Given the description of an element on the screen output the (x, y) to click on. 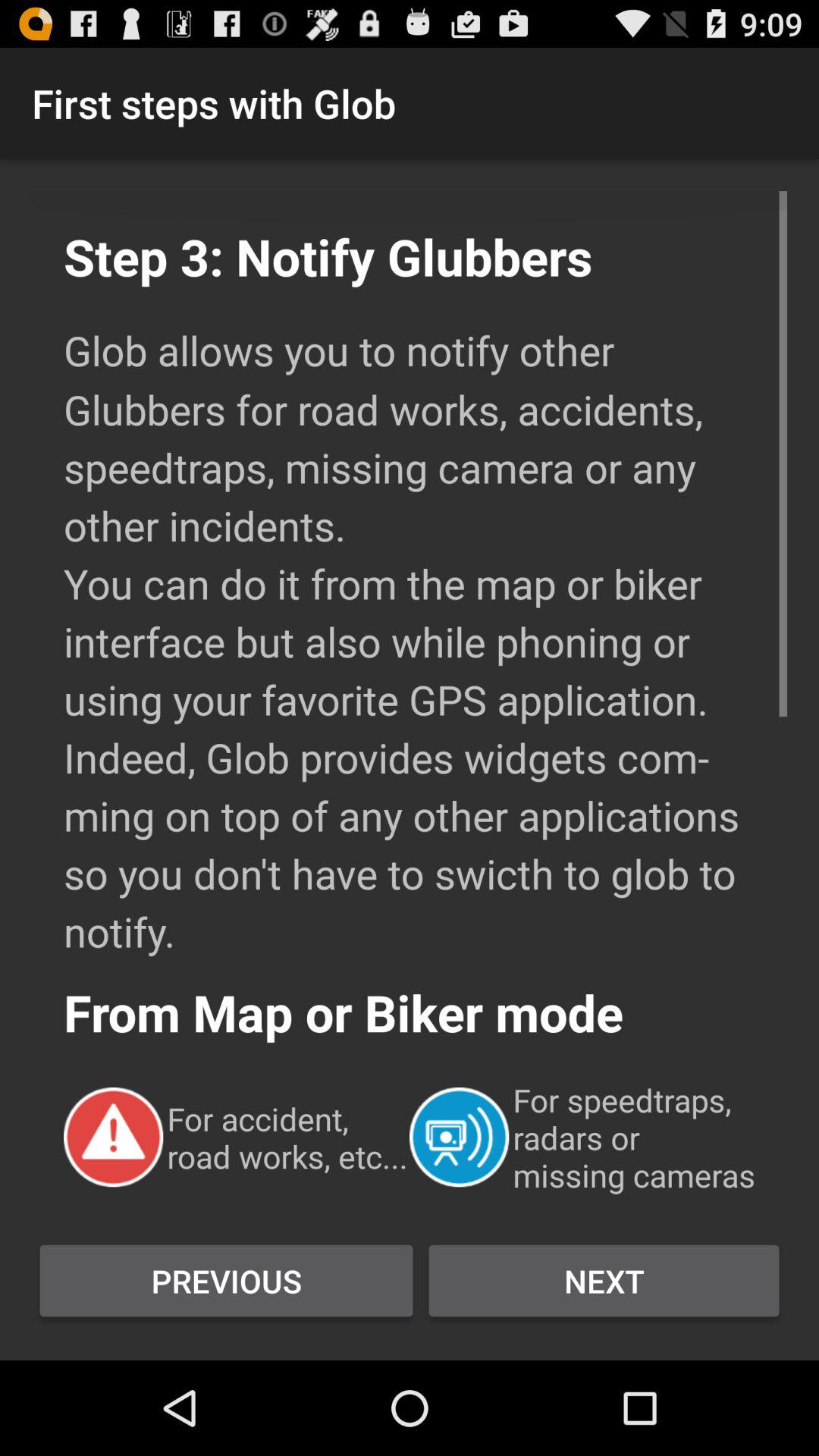
turn off the icon to the right of previous item (603, 1280)
